Given the description of an element on the screen output the (x, y) to click on. 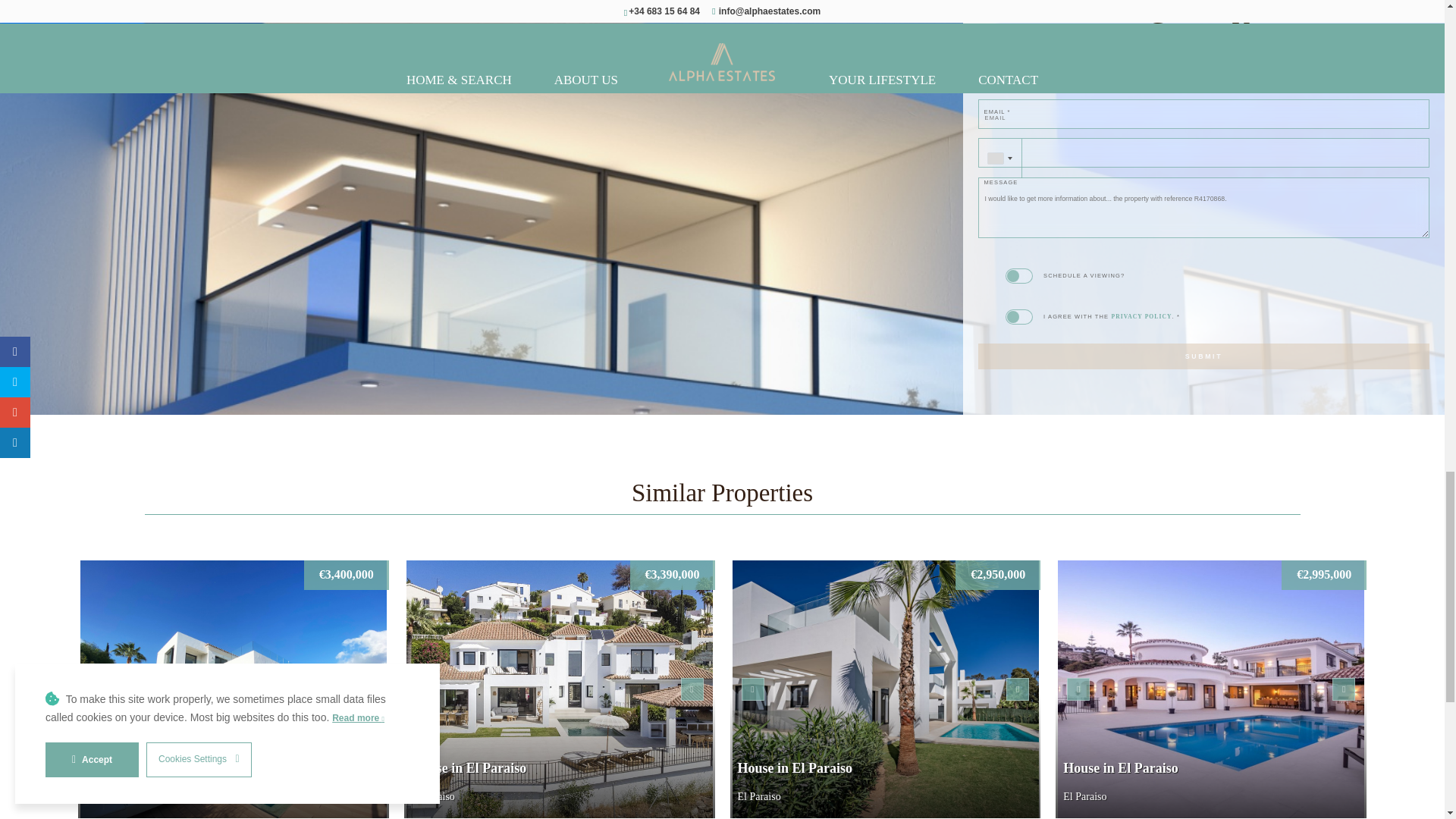
Previous (1078, 689)
PRIVACY POLICY (1141, 316)
SUBMIT (1203, 356)
Next (692, 689)
Previous (100, 689)
House in El Paraiso (233, 689)
Previous (752, 689)
Next (1343, 689)
Next (366, 689)
Previous (426, 689)
House in El Paraiso (559, 689)
Price (346, 574)
Next (1017, 689)
Price (671, 574)
